Given the description of an element on the screen output the (x, y) to click on. 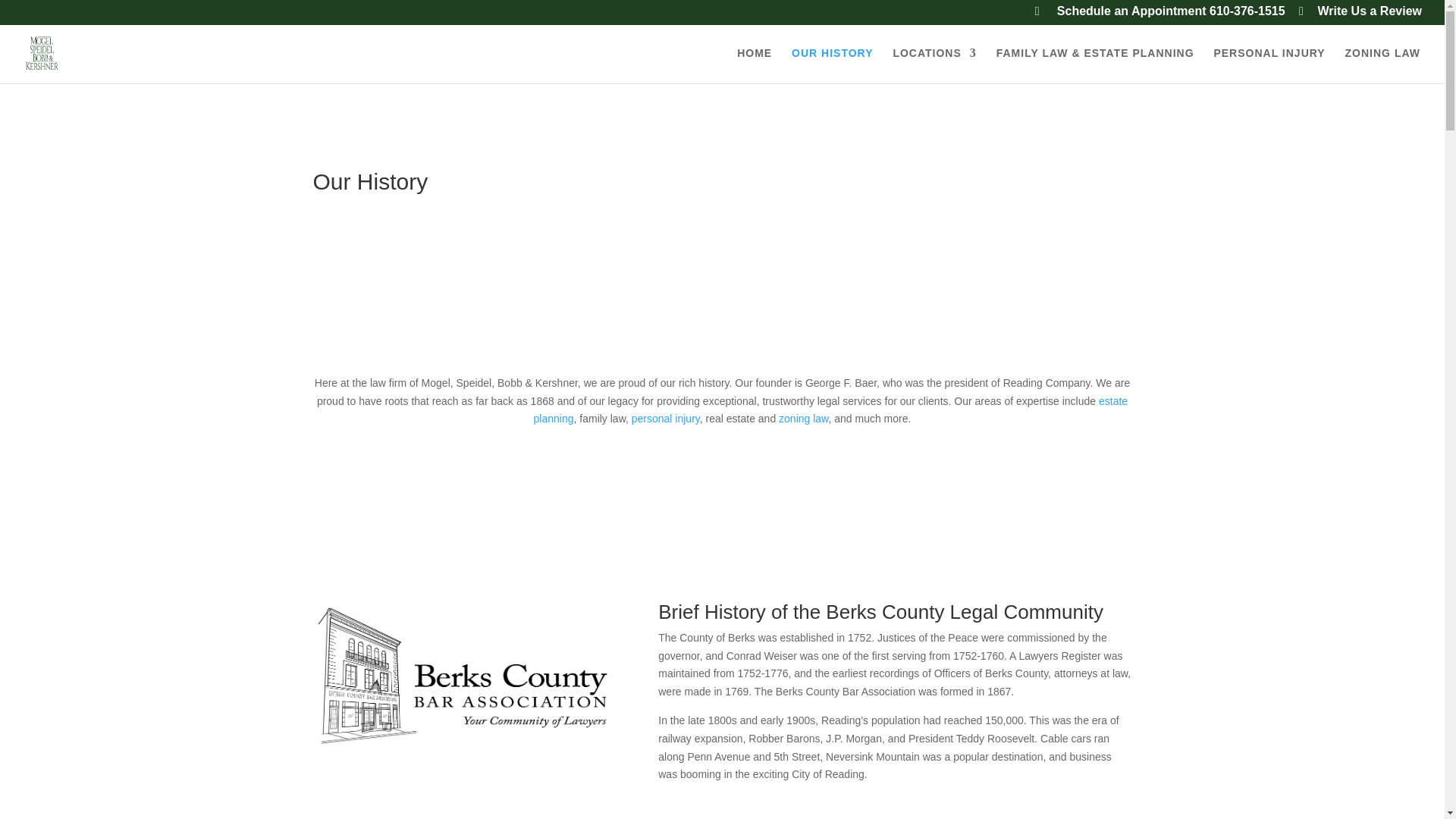
zoning law (803, 418)
Schedule an Appointment 610-376-1515 (1160, 15)
LOCATIONS (933, 65)
Write Us a Review (1360, 15)
ZONING LAW (1383, 65)
HOME (753, 65)
estate planning (831, 409)
PERSONAL INJURY (1268, 65)
OUR HISTORY (832, 65)
personal injury (665, 418)
